Given the description of an element on the screen output the (x, y) to click on. 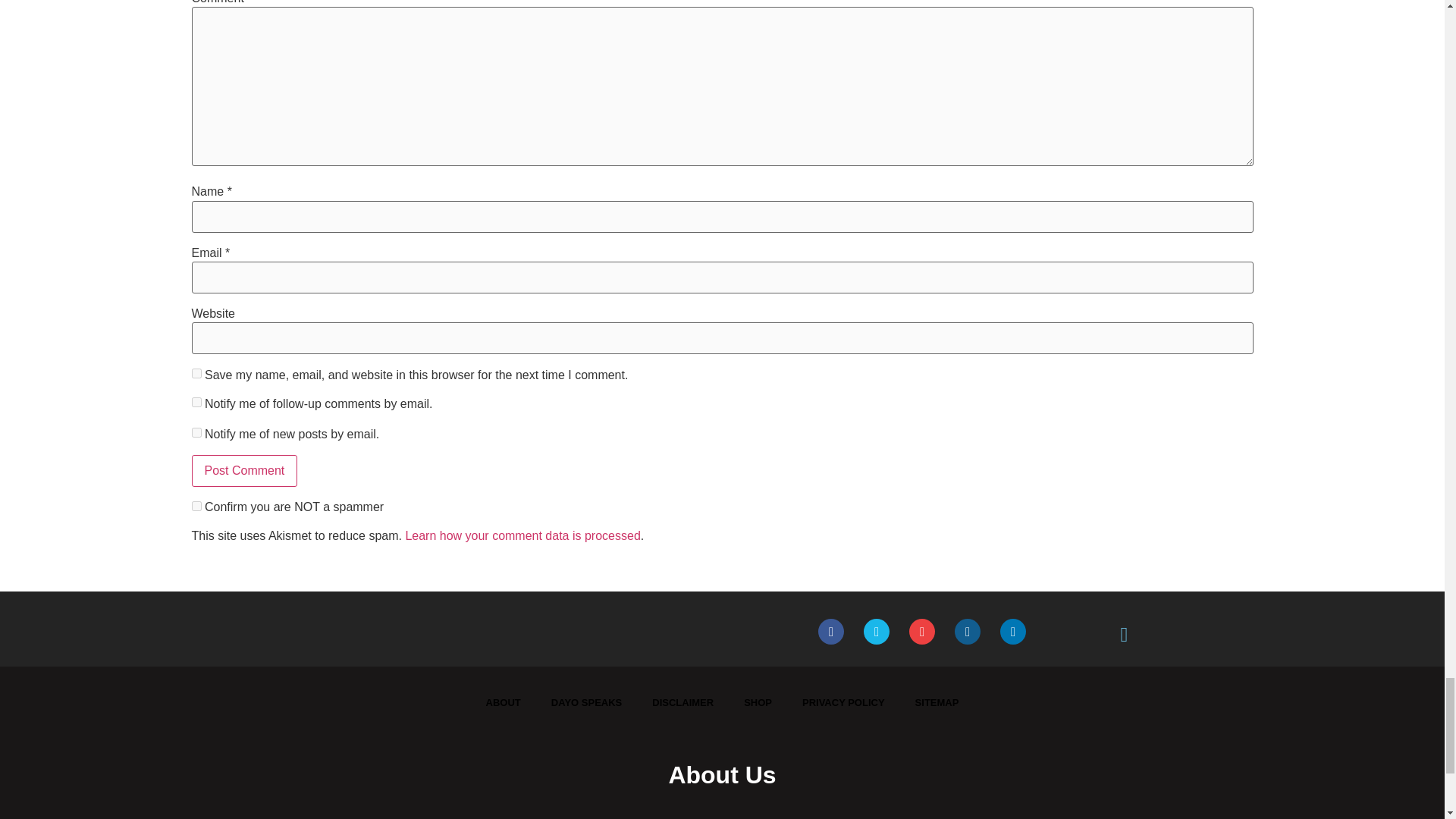
yes (195, 373)
subscribe (195, 432)
Post Comment (243, 470)
subscribe (195, 402)
on (195, 506)
